Given the description of an element on the screen output the (x, y) to click on. 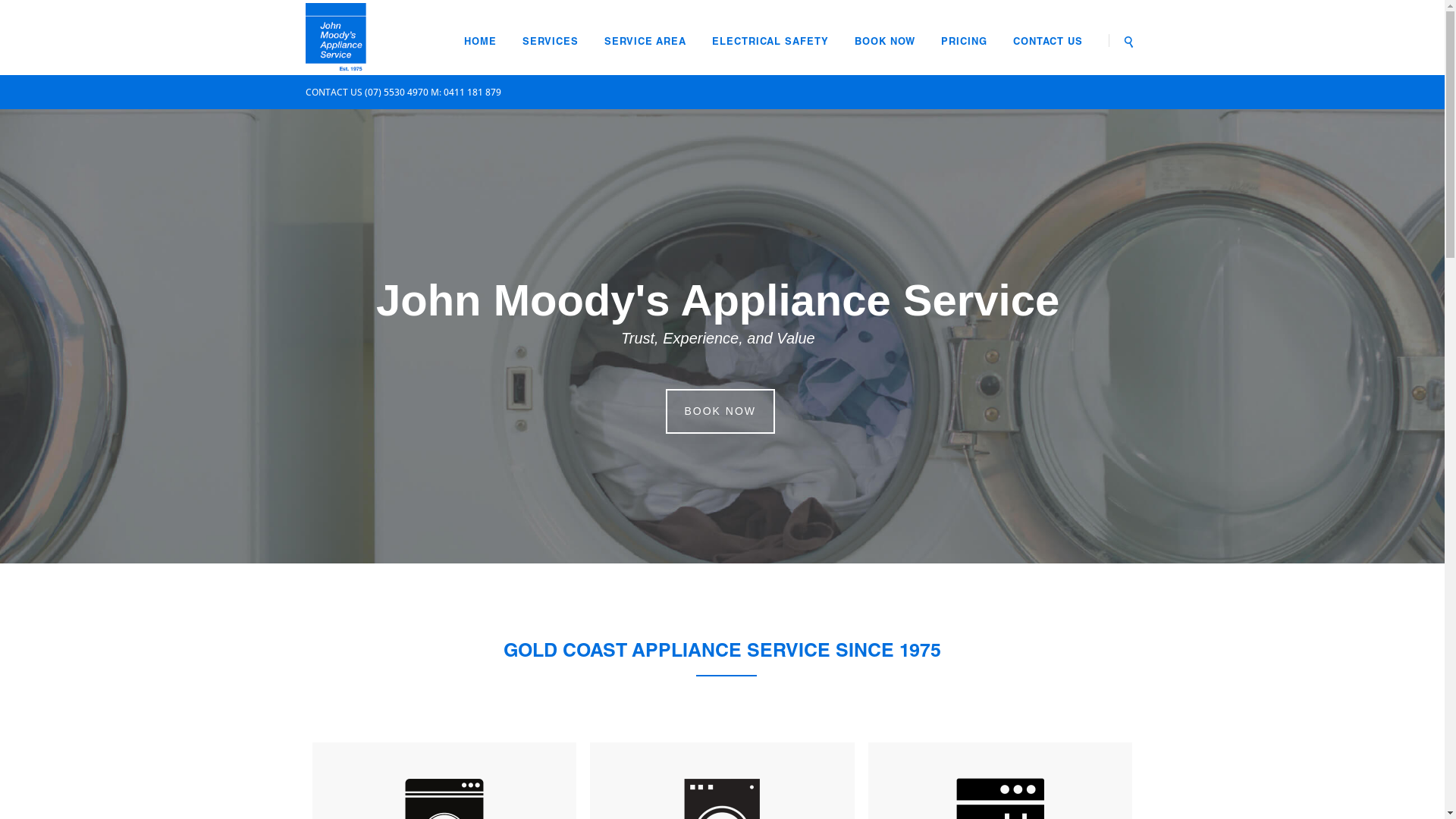
SERVICES Element type: text (550, 42)
PRICING Element type: text (964, 42)
CONTACT US Element type: text (1048, 42)
BOOK NOW Element type: text (720, 411)
HOME Element type: text (480, 42)
0411 181 879 Element type: text (471, 91)
(07) 5530 4970 Element type: text (395, 91)
SERVICE AREA Element type: text (645, 42)
ELECTRICAL SAFETY Element type: text (770, 42)
BOOK NOW Element type: text (884, 42)
